Given the description of an element on the screen output the (x, y) to click on. 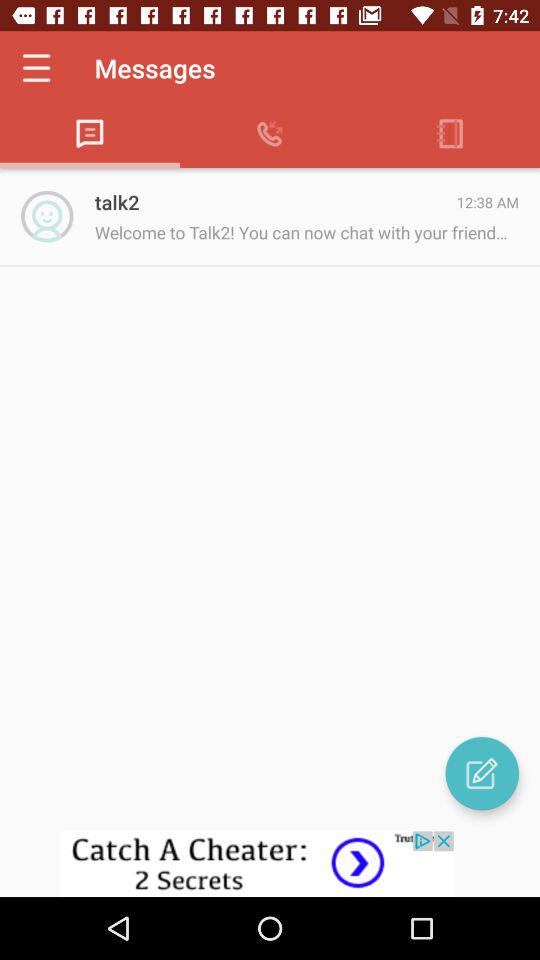
go to messeger (482, 773)
